Given the description of an element on the screen output the (x, y) to click on. 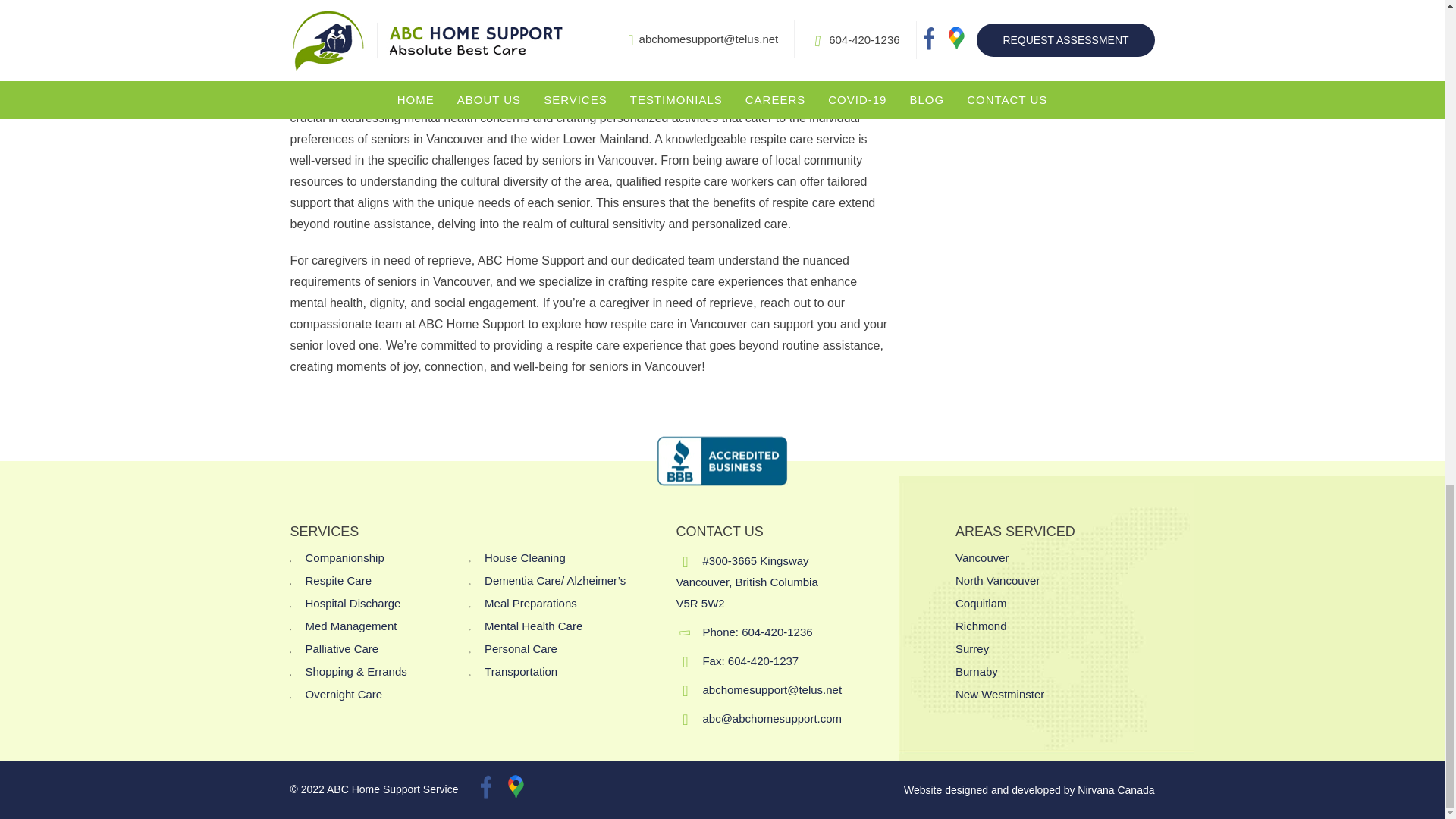
Meal Preparations (522, 603)
Respite Care (330, 580)
Companionship (336, 557)
House Cleaning (517, 557)
Palliative Care (333, 649)
Mental Health Care (525, 626)
Hospital Discharge (344, 603)
respite care in Vancouver (535, 53)
Med Management (342, 626)
